Given the description of an element on the screen output the (x, y) to click on. 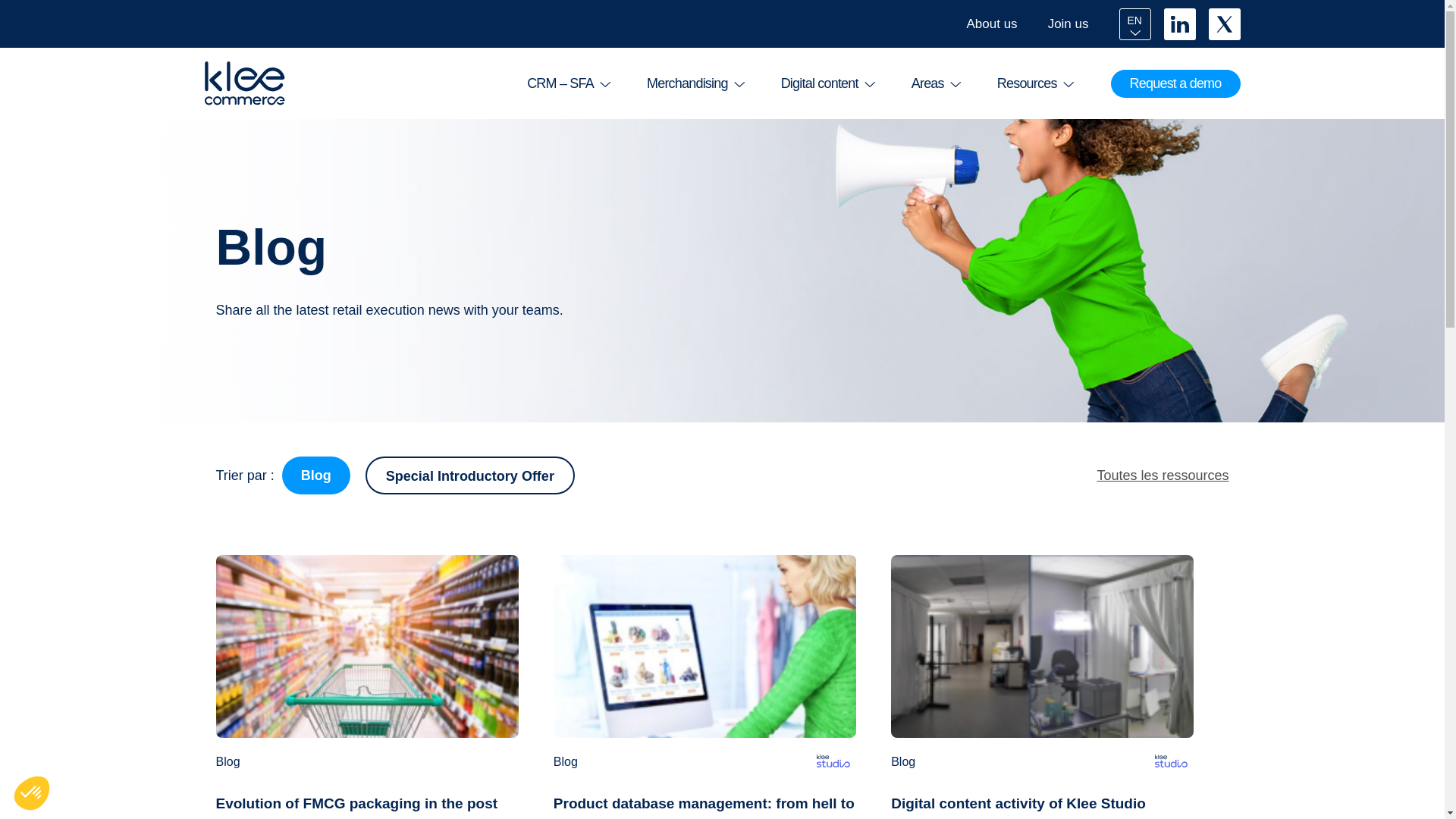
Areas (934, 82)
Digital content (826, 82)
Resources (1034, 82)
0 (117, 767)
Merchandising (694, 82)
EN (1135, 23)
About us (991, 23)
